Given the description of an element on the screen output the (x, y) to click on. 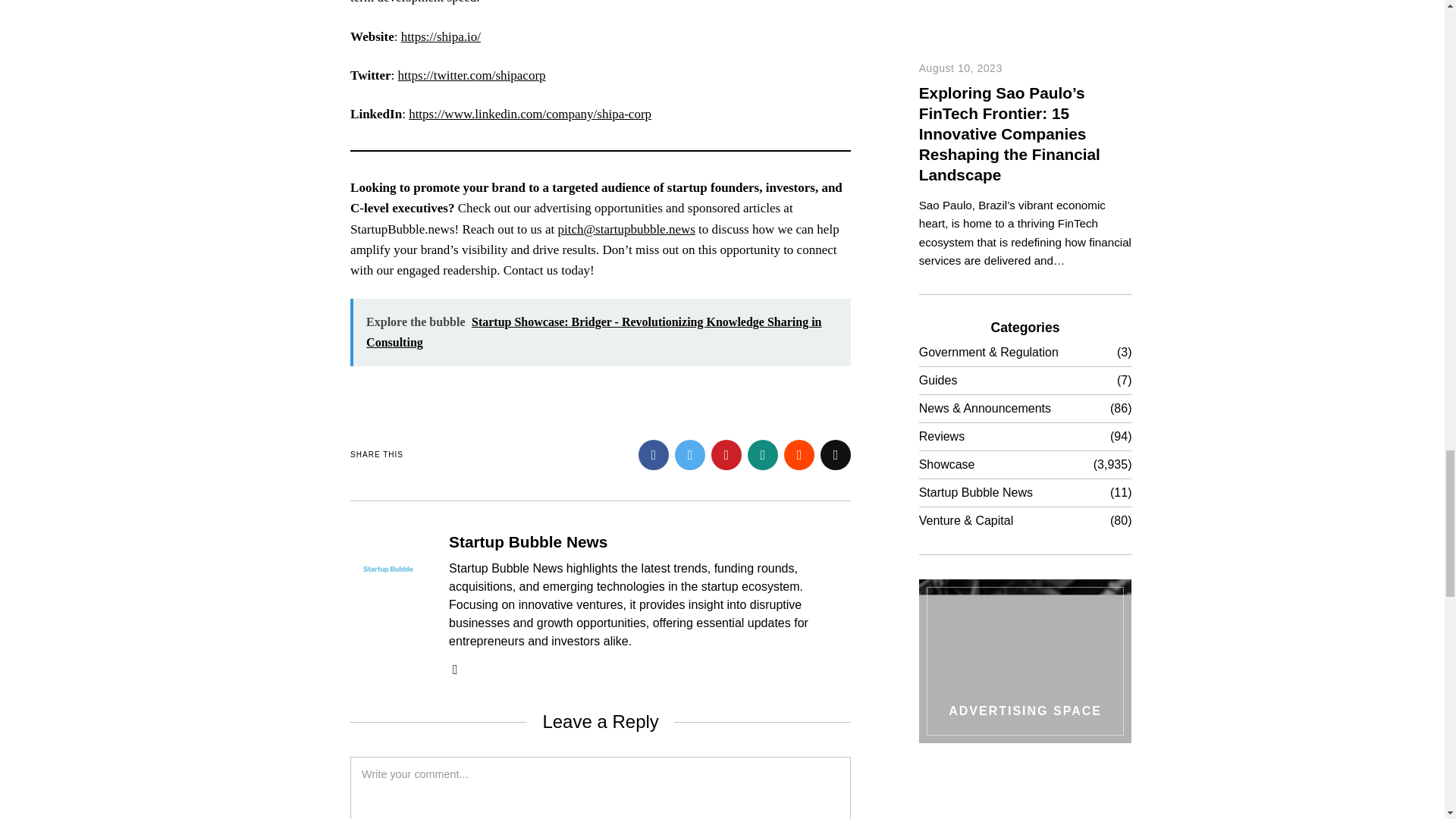
Twitter (689, 454)
Facebook (653, 454)
Whatsapp (762, 454)
Pinterest (726, 454)
